Given the description of an element on the screen output the (x, y) to click on. 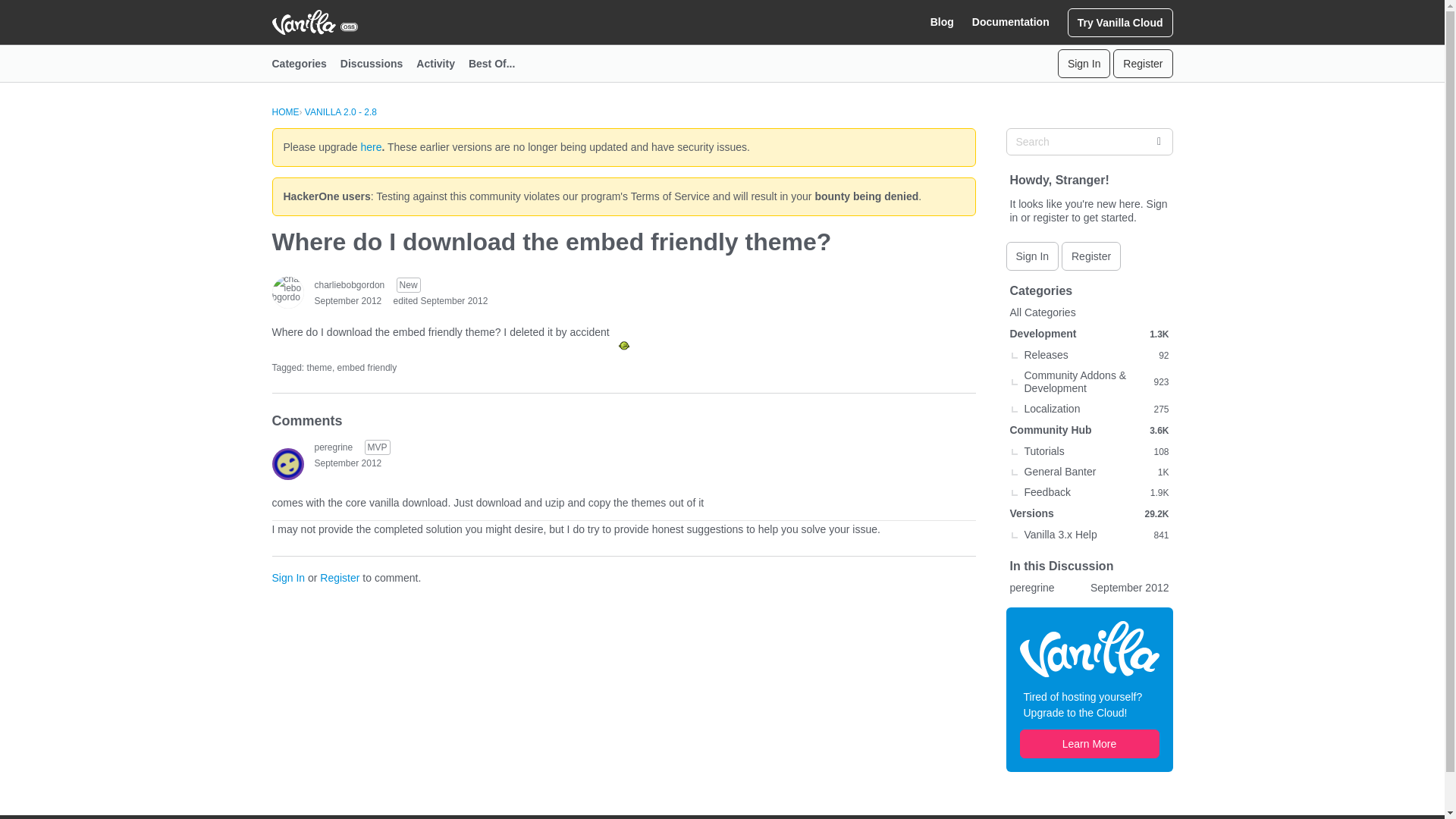
Try Vanilla Cloud (1120, 21)
Categories (304, 63)
Register (339, 577)
3,565 discussions (1159, 429)
Vanilla (1088, 648)
Most Valuable Poster (377, 447)
charliebobgordon (349, 284)
HOME (284, 112)
Activity (442, 63)
VANILLA 2.0 - 2.8 (340, 112)
